Given the description of an element on the screen output the (x, y) to click on. 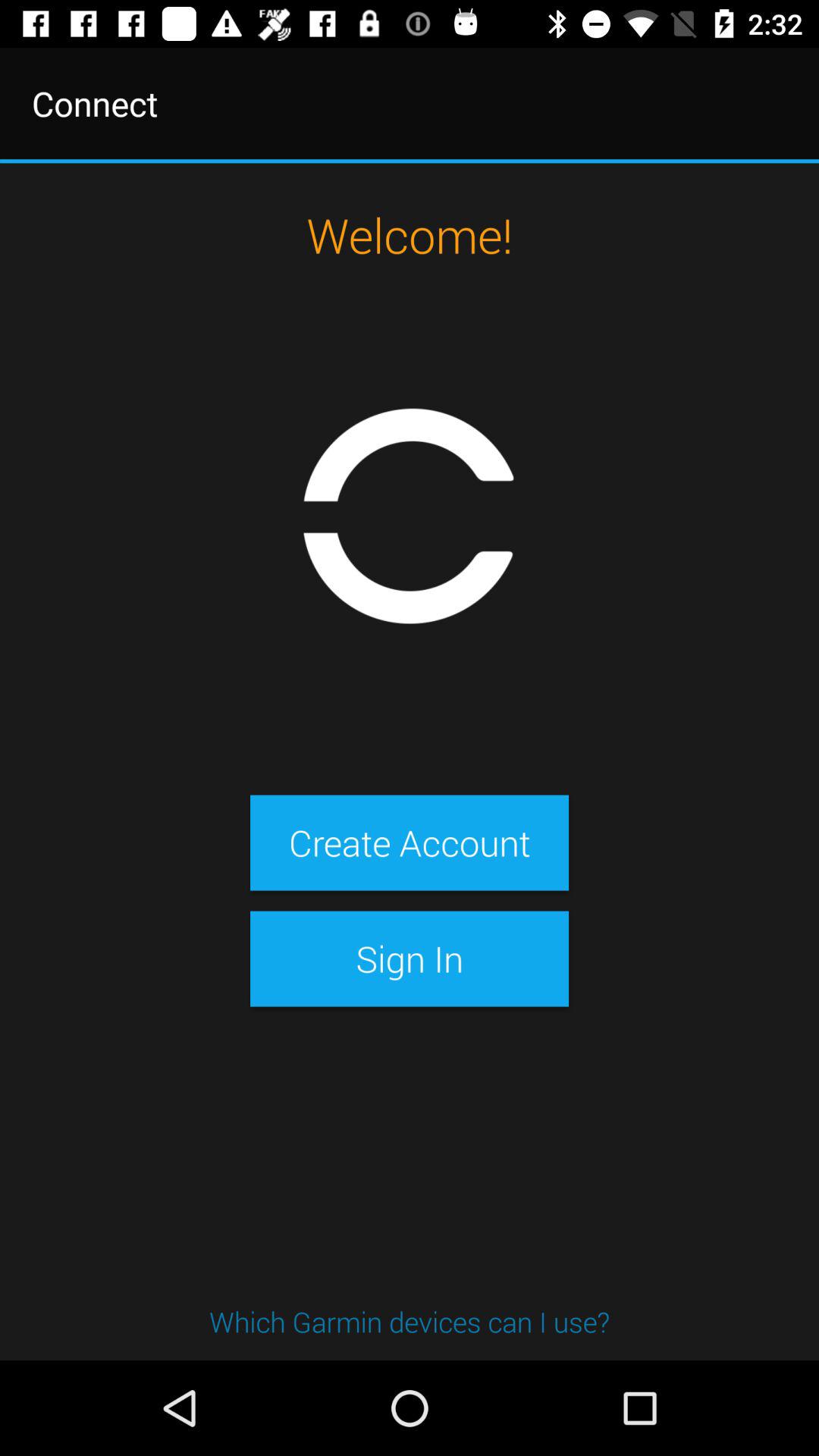
jump until create account (409, 842)
